Given the description of an element on the screen output the (x, y) to click on. 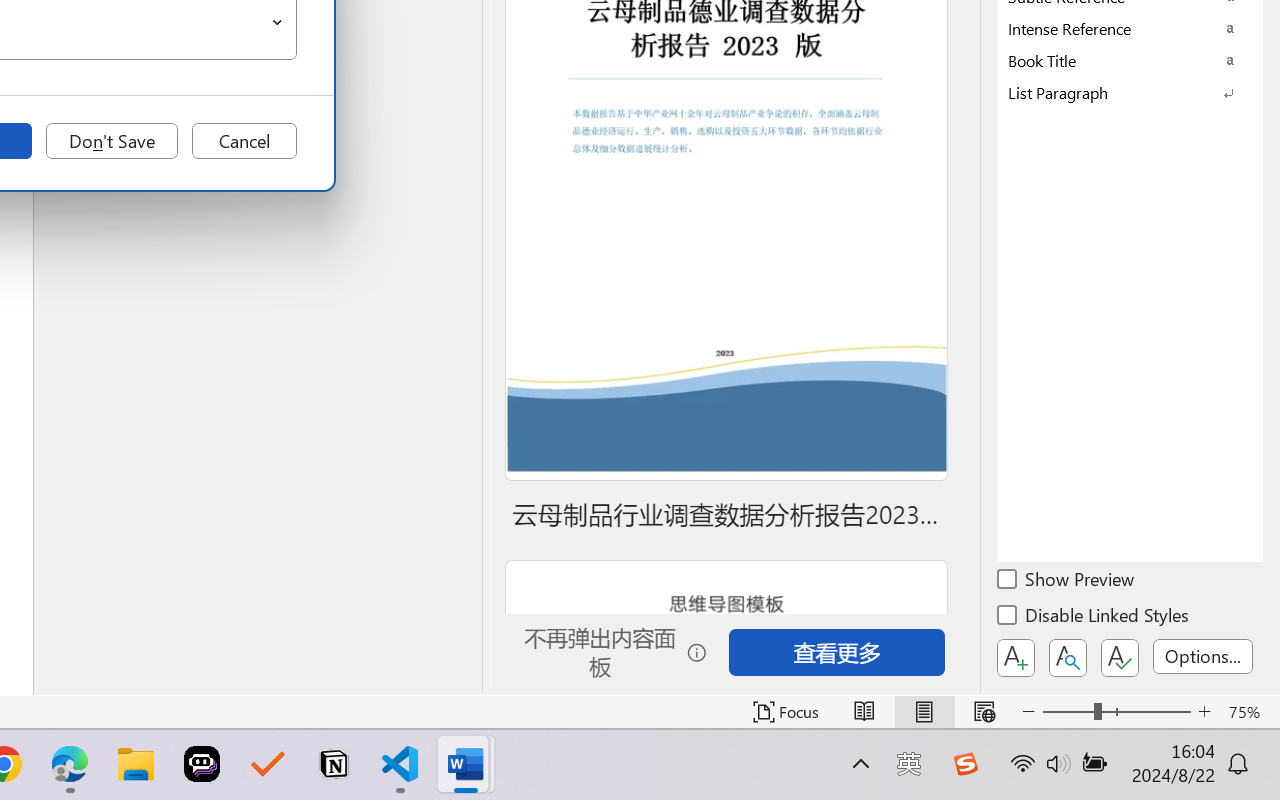
Read Mode (864, 712)
Web Layout (984, 712)
Intense Reference (1130, 28)
List Paragraph (1130, 92)
Class: NetUIImage (1116, 92)
Book Title (1130, 60)
Class: Image (965, 764)
Zoom Out (1067, 712)
Notion (333, 764)
